Given the description of an element on the screen output the (x, y) to click on. 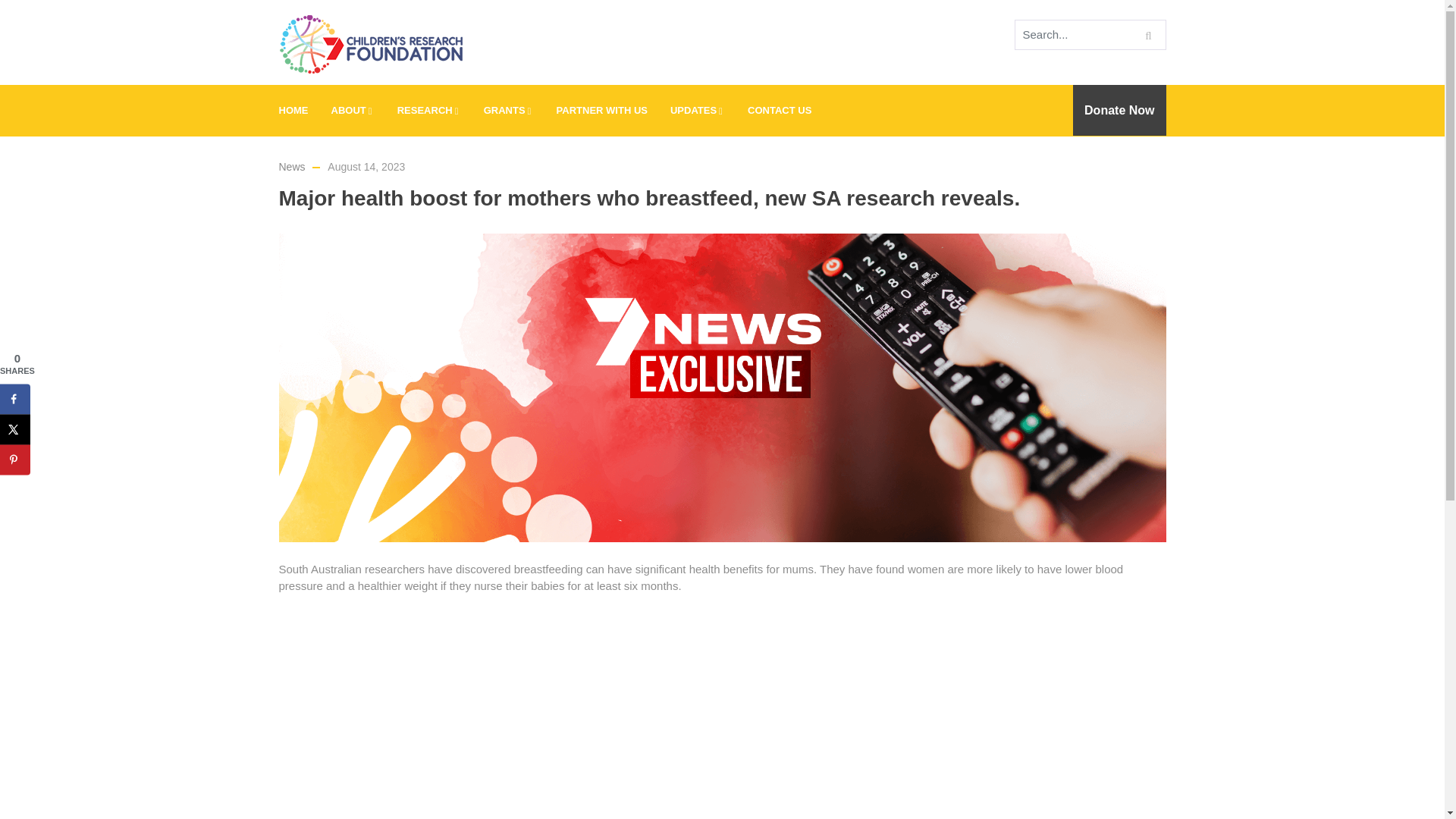
Share on Facebook (15, 399)
Share on X (15, 429)
Save to Pinterest (15, 459)
ABOUT (352, 110)
RESEARCH (428, 110)
